Given the description of an element on the screen output the (x, y) to click on. 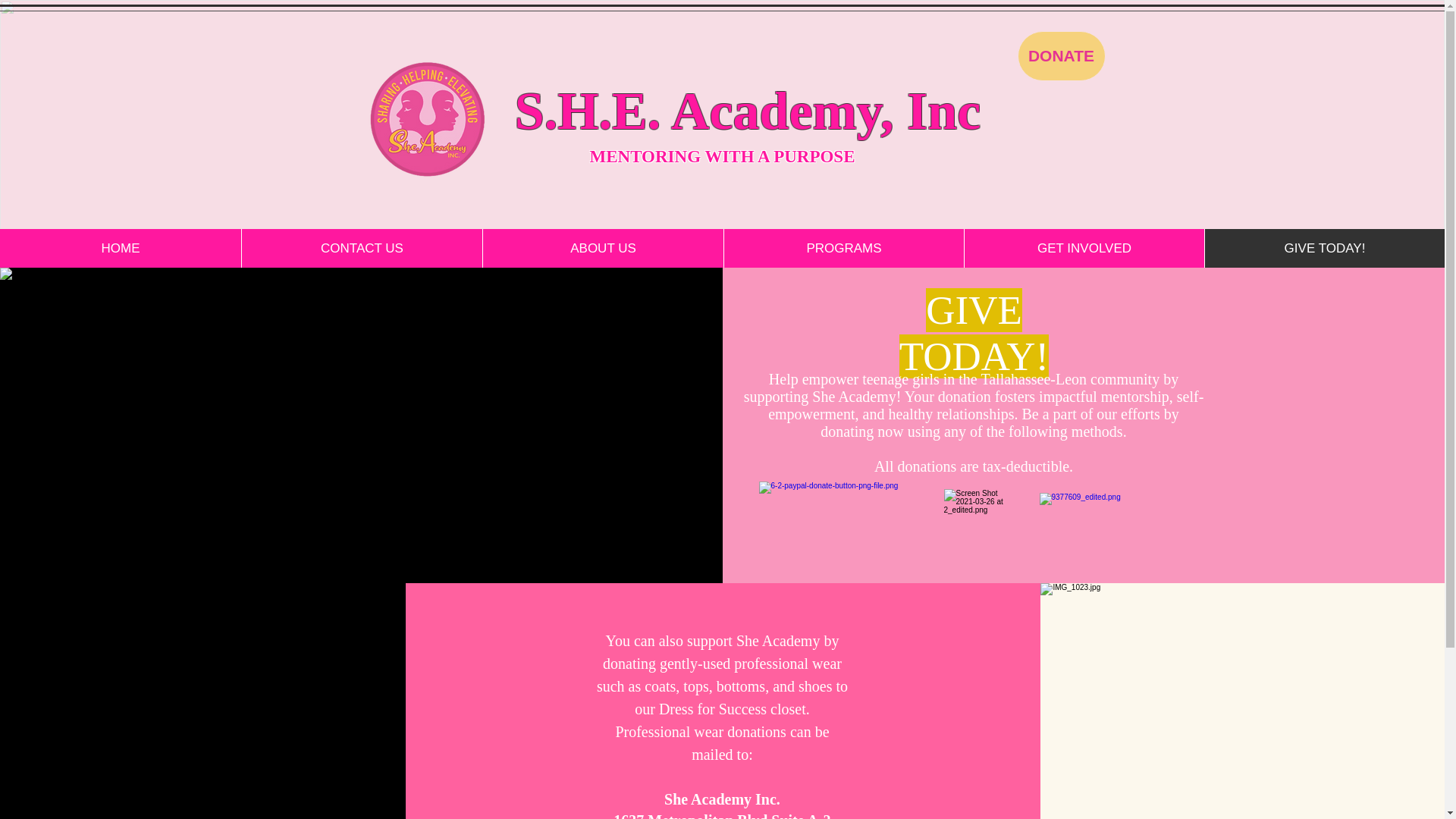
CONTACT US (361, 248)
HOME (120, 248)
GET INVOLVED (1083, 248)
PROGRAMS (843, 248)
ABOUT US (602, 248)
DONATE (1061, 56)
